Given the description of an element on the screen output the (x, y) to click on. 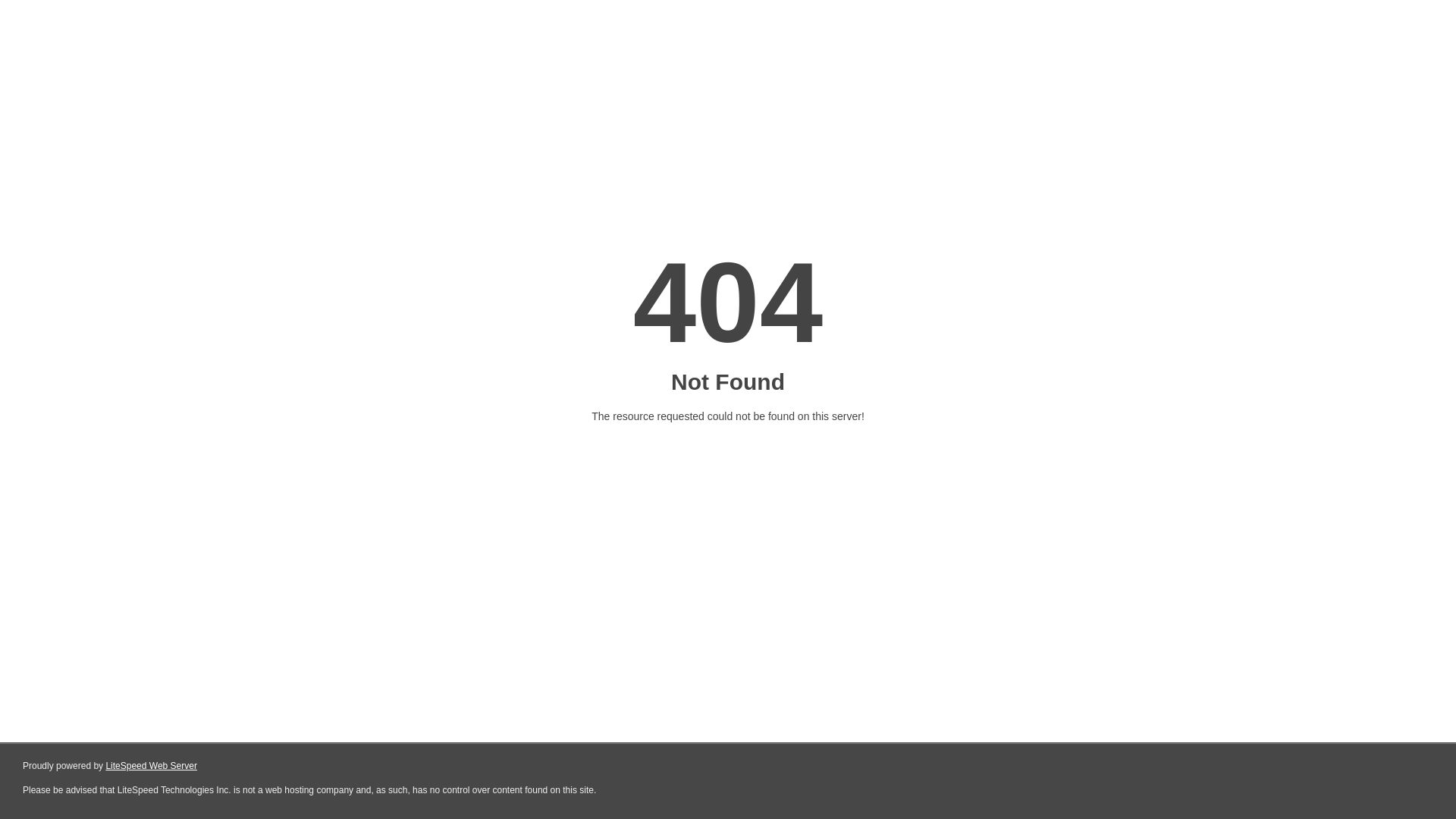
LiteSpeed Web Server Element type: text (151, 765)
